Given the description of an element on the screen output the (x, y) to click on. 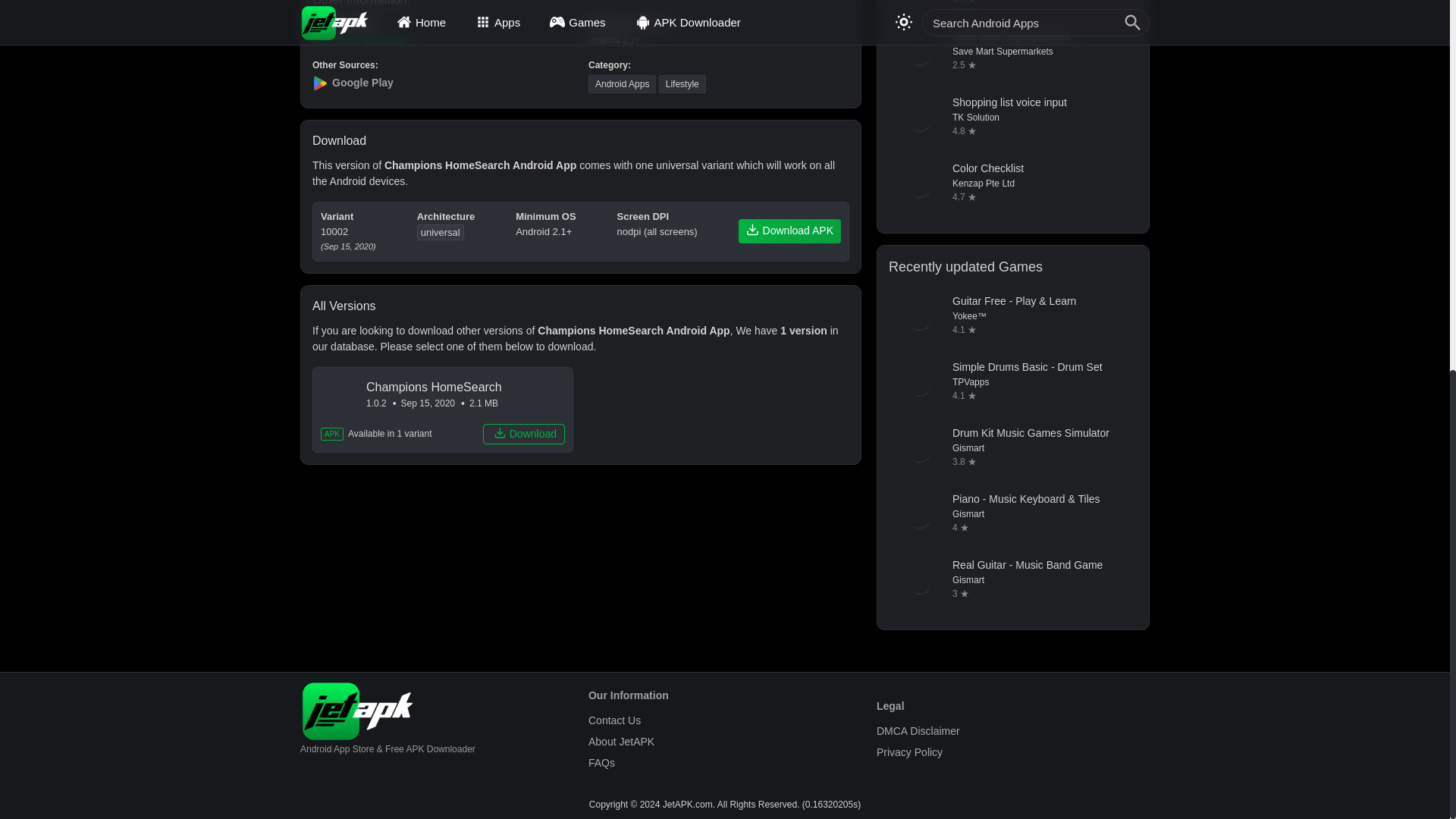
Save Mart Supermarkets 4.8.3 Android APK (1012, 54)
Dillons 71.3 Android APK (1012, 9)
Download APK (789, 231)
Google Play (443, 82)
Color Checklist 1.8 Android APK (1012, 186)
Lifestyle (682, 84)
Simple Drums Basic - Drum Set 1.3.9 Android APK (1012, 384)
com.nwchampions.app (359, 40)
Drum Kit Music Games Simulator 3.45.2 Android APK (1012, 451)
Champions HomeSearch 1.0.2 older version APK (443, 409)
